Given the description of an element on the screen output the (x, y) to click on. 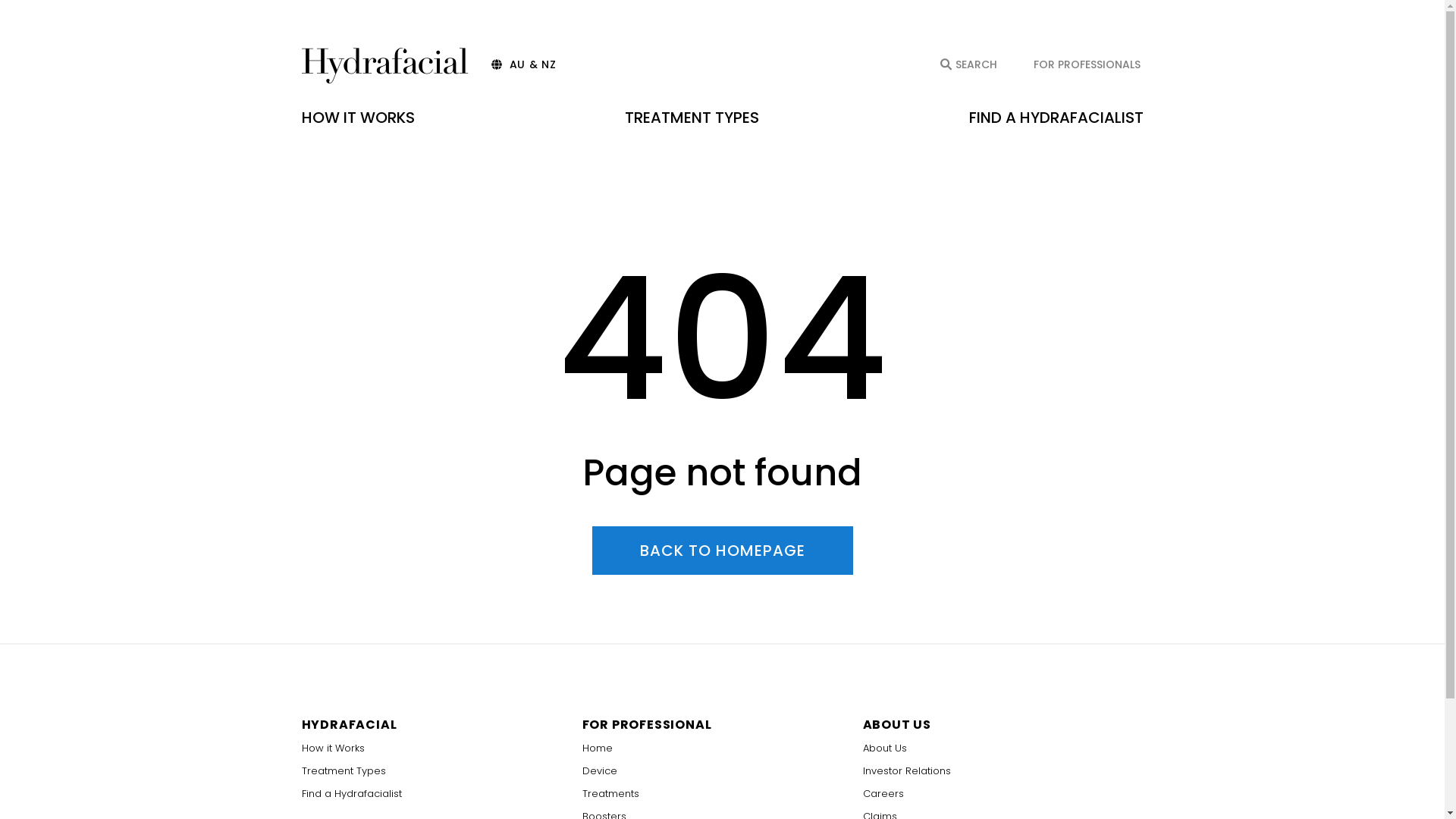
Investor Relations Element type: text (1002, 770)
TREATMENT TYPES Element type: text (691, 117)
Device Element type: text (722, 770)
AU & NZ Element type: text (523, 64)
Treatment Types Element type: text (441, 770)
Careers Element type: text (1002, 793)
BACK TO HOMEPAGE Element type: text (721, 550)
How it Works Element type: text (441, 748)
SEARCH Element type: text (968, 64)
FOR PROFESSIONALS Element type: text (1085, 64)
About Us Element type: text (1002, 748)
Home Element type: text (722, 748)
Find a Hydrafacialist Element type: text (441, 793)
HOW IT WORKS Element type: text (357, 117)
FIND A HYDRAFACIALIST Element type: text (1056, 117)
Treatments Element type: text (722, 793)
